Given the description of an element on the screen output the (x, y) to click on. 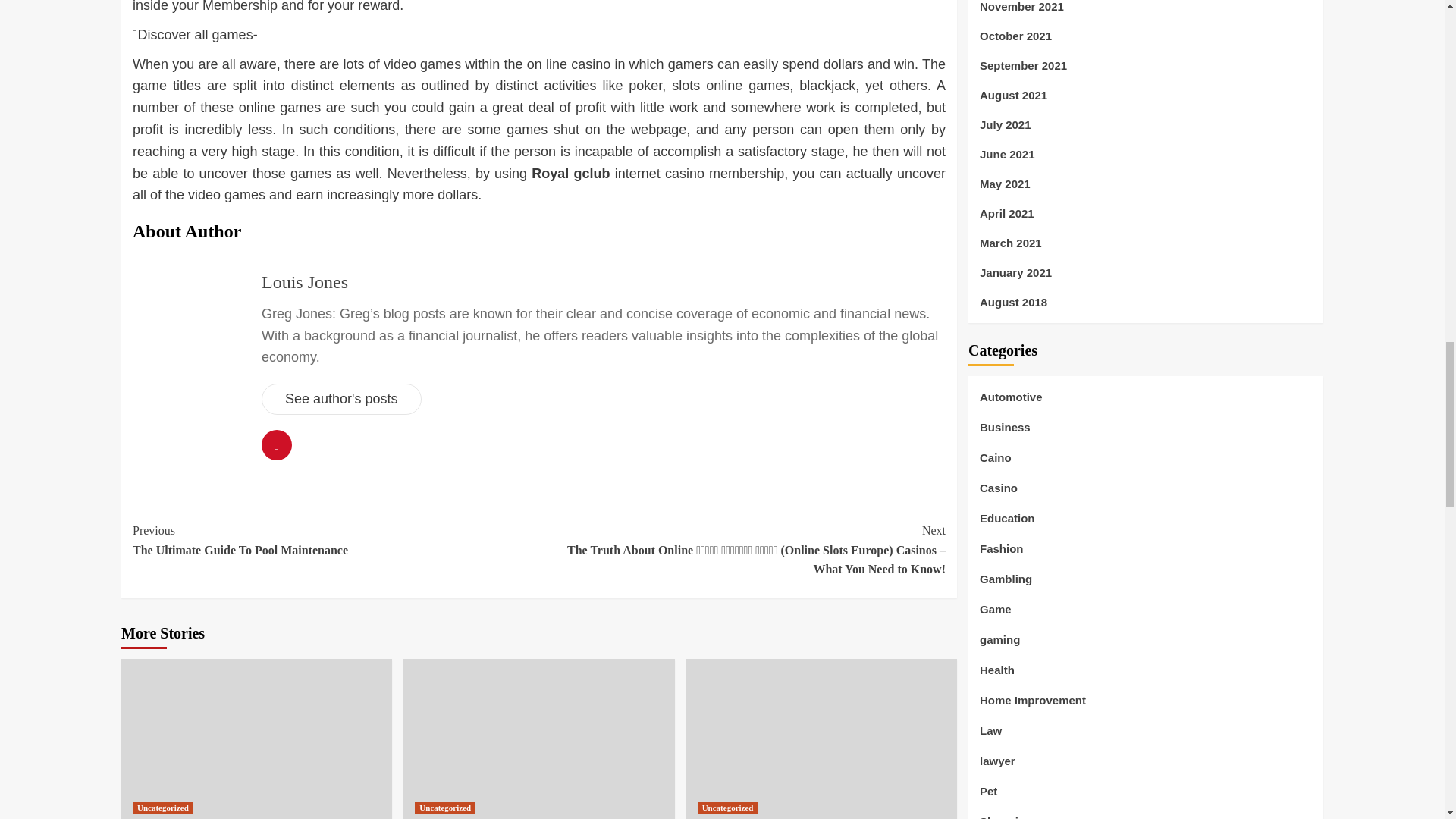
Uncategorized (162, 807)
Uncategorized (727, 807)
Uncategorized (445, 807)
Louis Jones (335, 539)
See author's posts (304, 281)
